Given the description of an element on the screen output the (x, y) to click on. 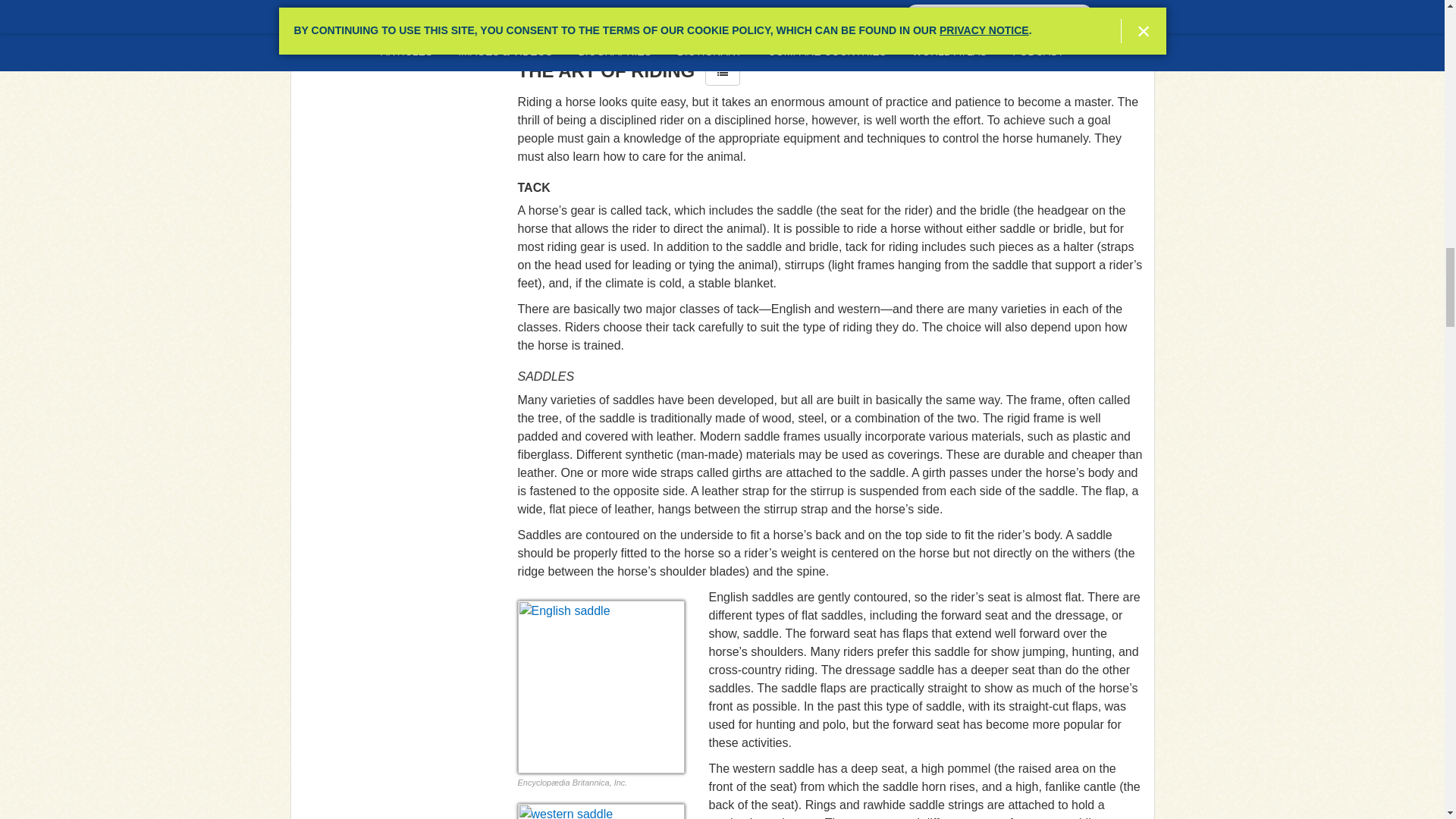
Tennessee walking horse (600, 2)
western saddle (600, 811)
Table of Contents (721, 72)
English saddle (600, 686)
